Given the description of an element on the screen output the (x, y) to click on. 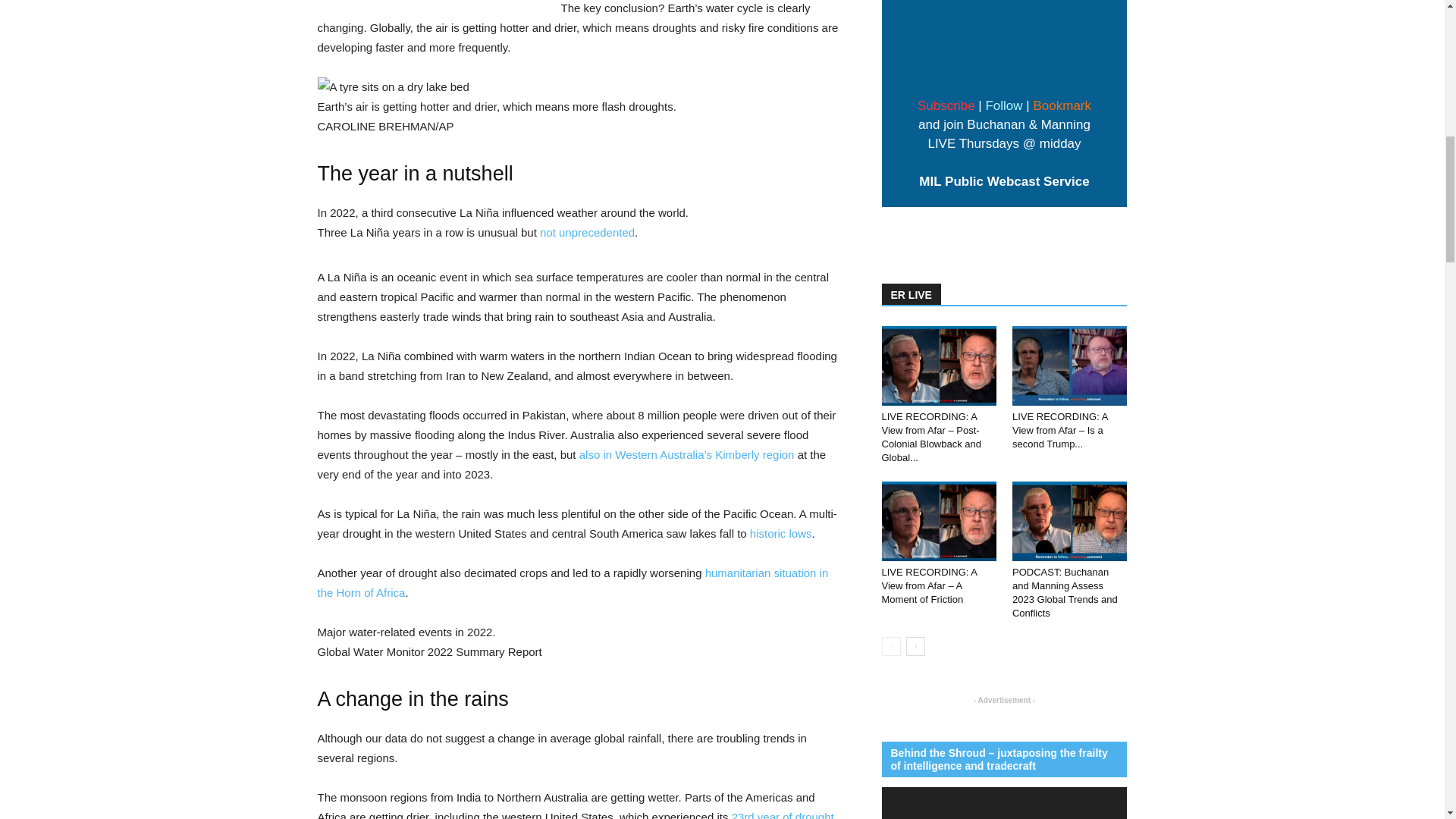
not unprecedented (587, 232)
